Given the description of an element on the screen output the (x, y) to click on. 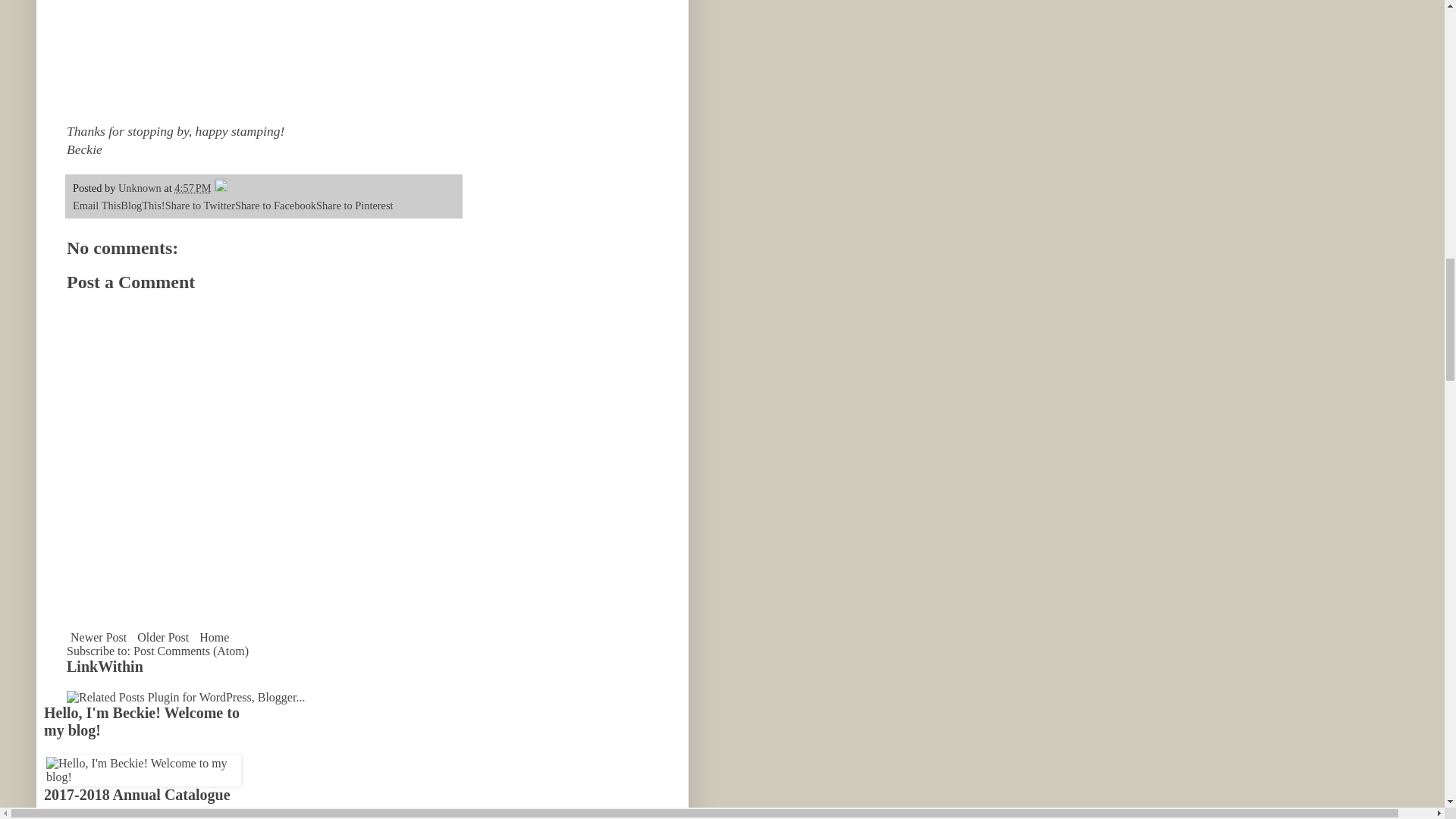
permanent link (192, 187)
BlogThis! (142, 205)
Newer Post (98, 637)
Older Post (162, 637)
Older Post (162, 637)
Share to Facebook (274, 205)
Share to Facebook (274, 205)
Edit Post (220, 187)
Newer Post (98, 637)
Email This (96, 205)
Home (213, 637)
Share to Twitter (199, 205)
Share to Pinterest (354, 205)
Share to Pinterest (354, 205)
Unknown (140, 187)
